Given the description of an element on the screen output the (x, y) to click on. 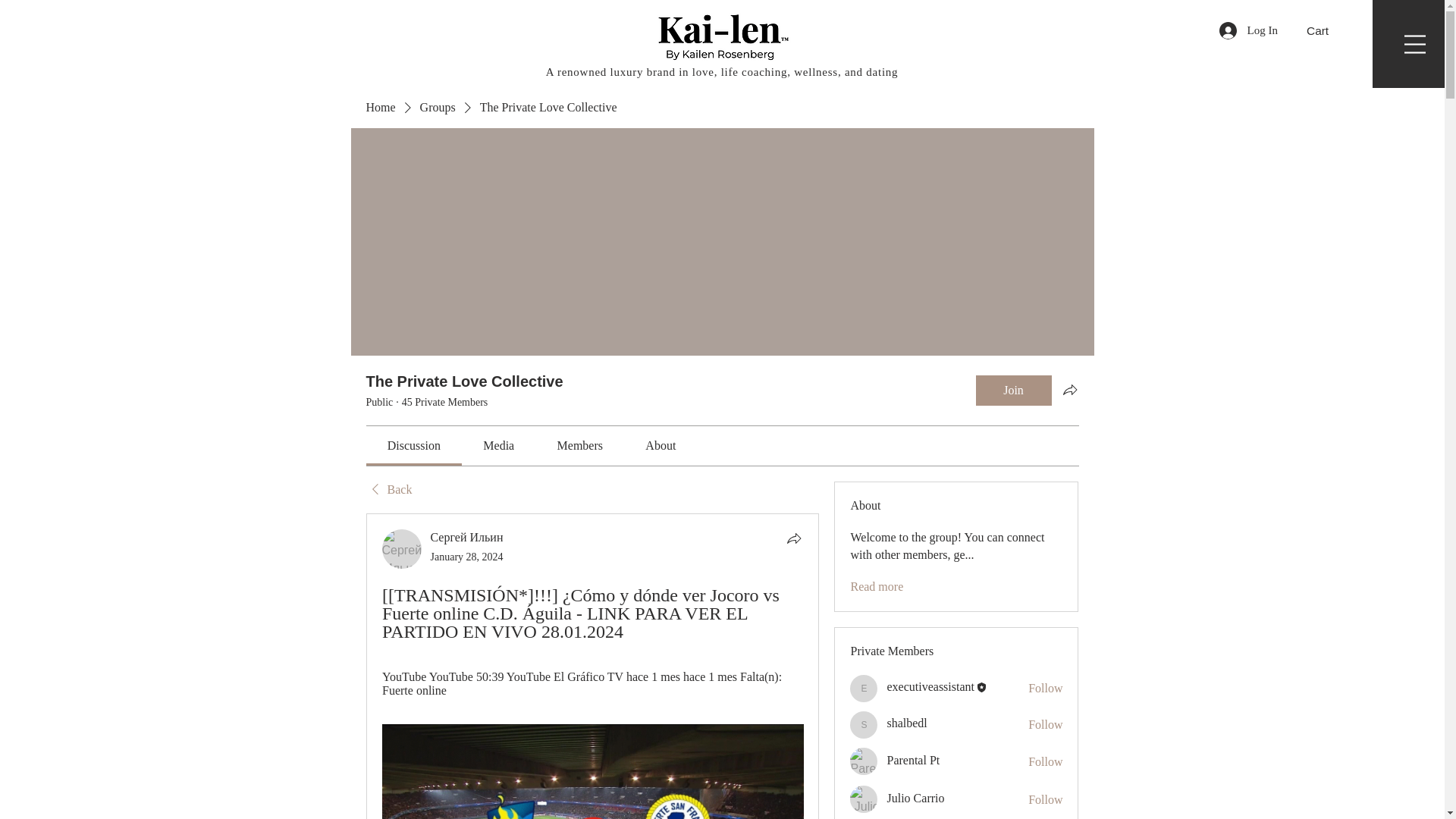
January 28, 2024 (466, 556)
Follow (1044, 688)
Groups (437, 107)
Cart (1326, 30)
Cart (1326, 30)
executiveassistant (863, 687)
Follow (1044, 799)
Follow (1044, 724)
Log In (1248, 29)
Follow (1044, 761)
Join (1013, 390)
Julio Carrio (863, 799)
Back (388, 489)
shalbedl (863, 724)
Read more (876, 586)
